Given the description of an element on the screen output the (x, y) to click on. 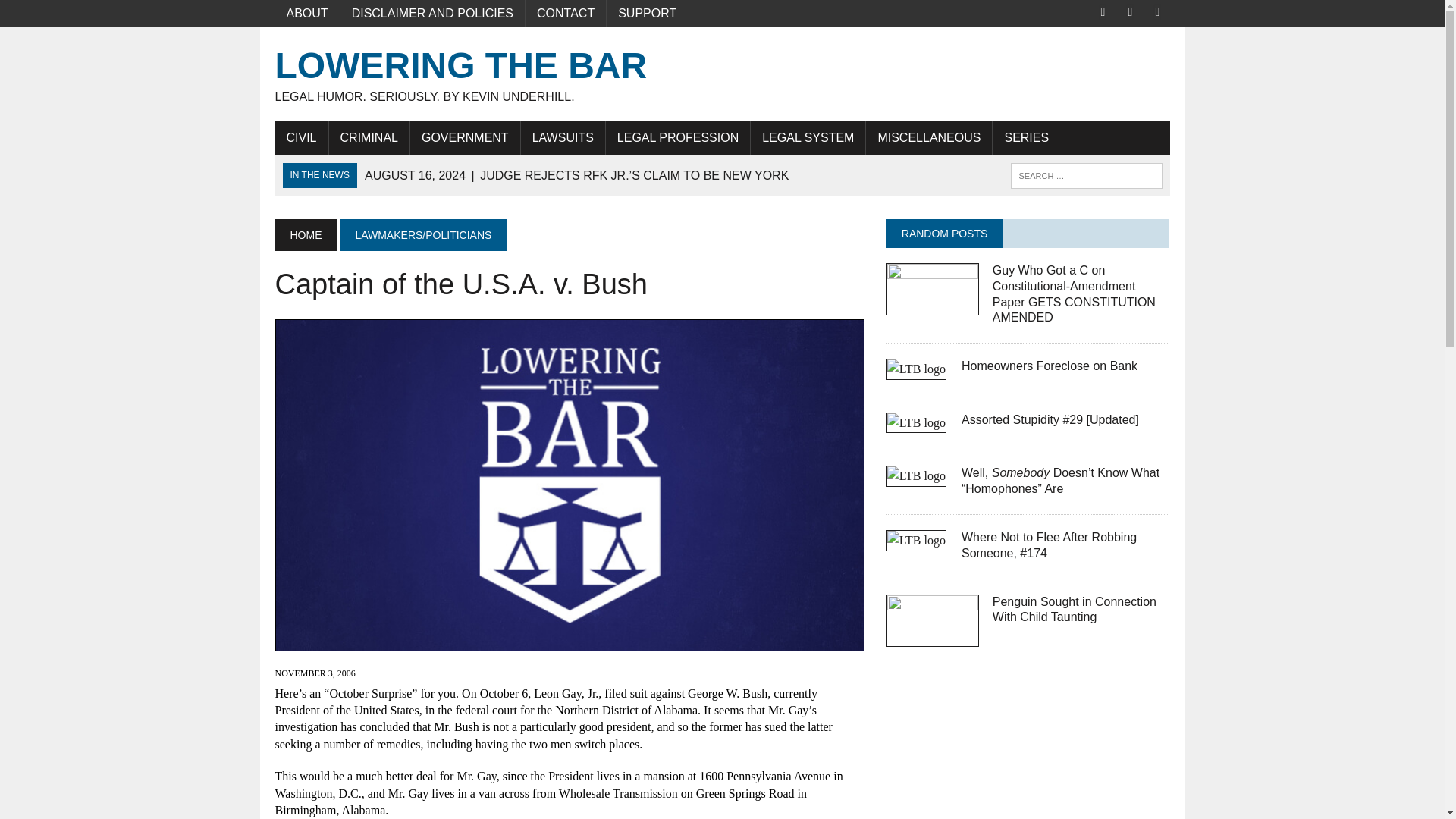
ABOUT (307, 13)
CRIMINAL (369, 137)
Lowering the Bar (722, 73)
CIVIL (301, 137)
DISCLAIMER AND POLICIES (432, 13)
SUPPORT (647, 13)
CONTACT (565, 13)
